Given the description of an element on the screen output the (x, y) to click on. 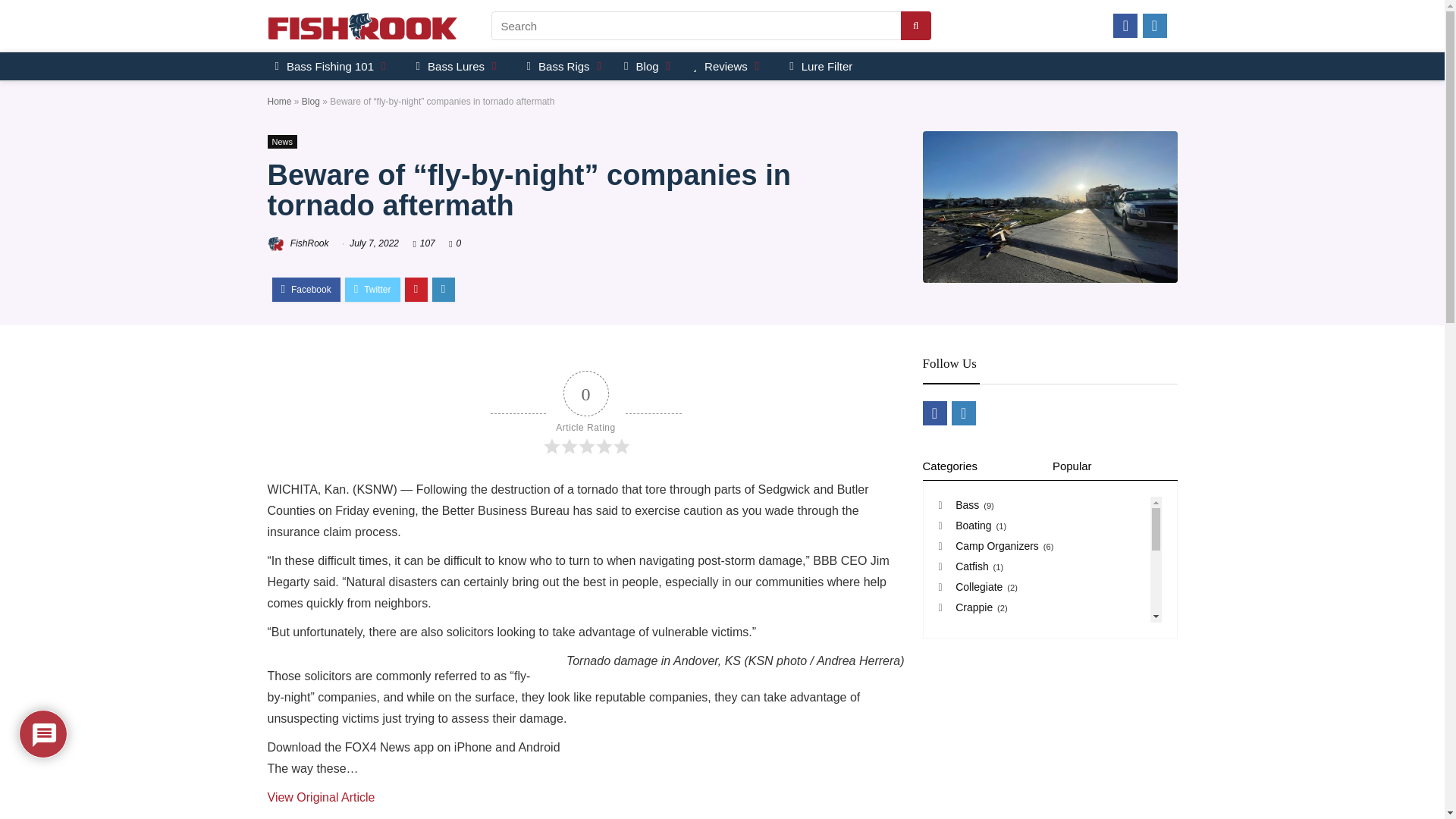
Bass Fishing 101 (331, 66)
Bass Lures (458, 66)
